Given the description of an element on the screen output the (x, y) to click on. 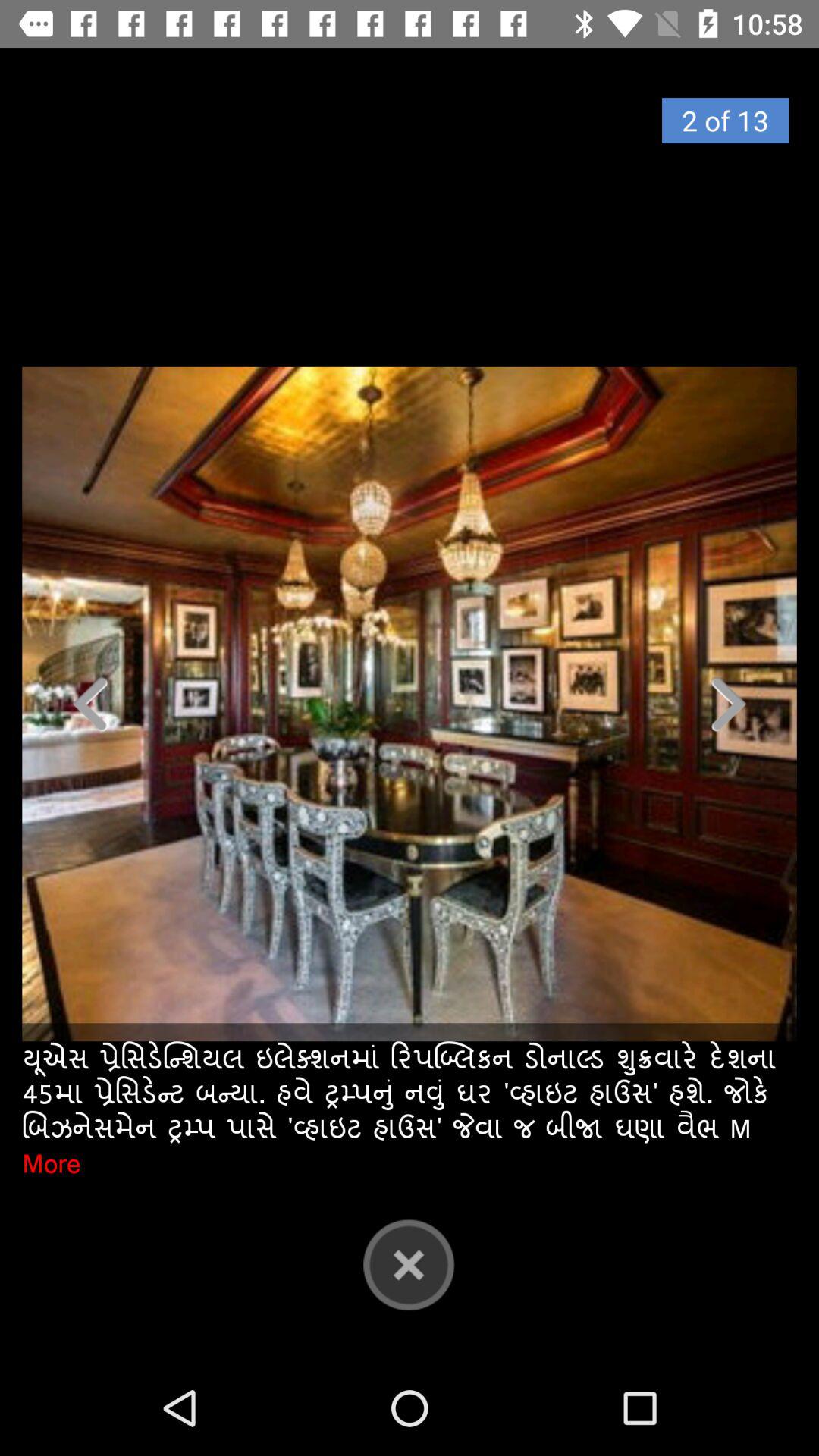
click the page (409, 703)
